Given the description of an element on the screen output the (x, y) to click on. 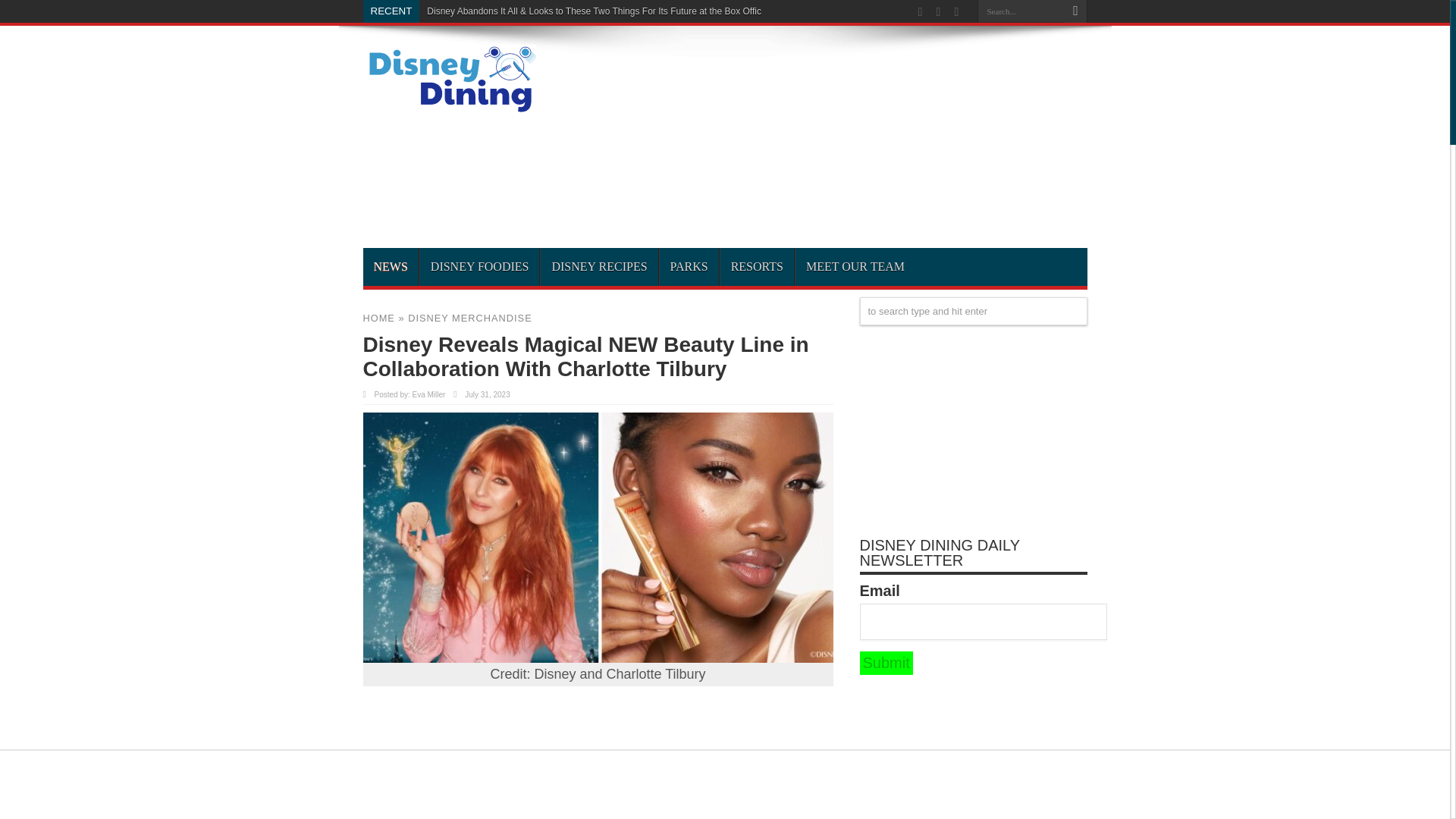
to search type and hit enter (973, 311)
HOME (378, 317)
MEET OUR TEAM (854, 266)
Search... (1020, 11)
DISNEY MERCHANDISE (469, 317)
NEWS (389, 266)
Search (1075, 11)
RESORTS (756, 266)
DISNEY FOODIES (479, 266)
